Given the description of an element on the screen output the (x, y) to click on. 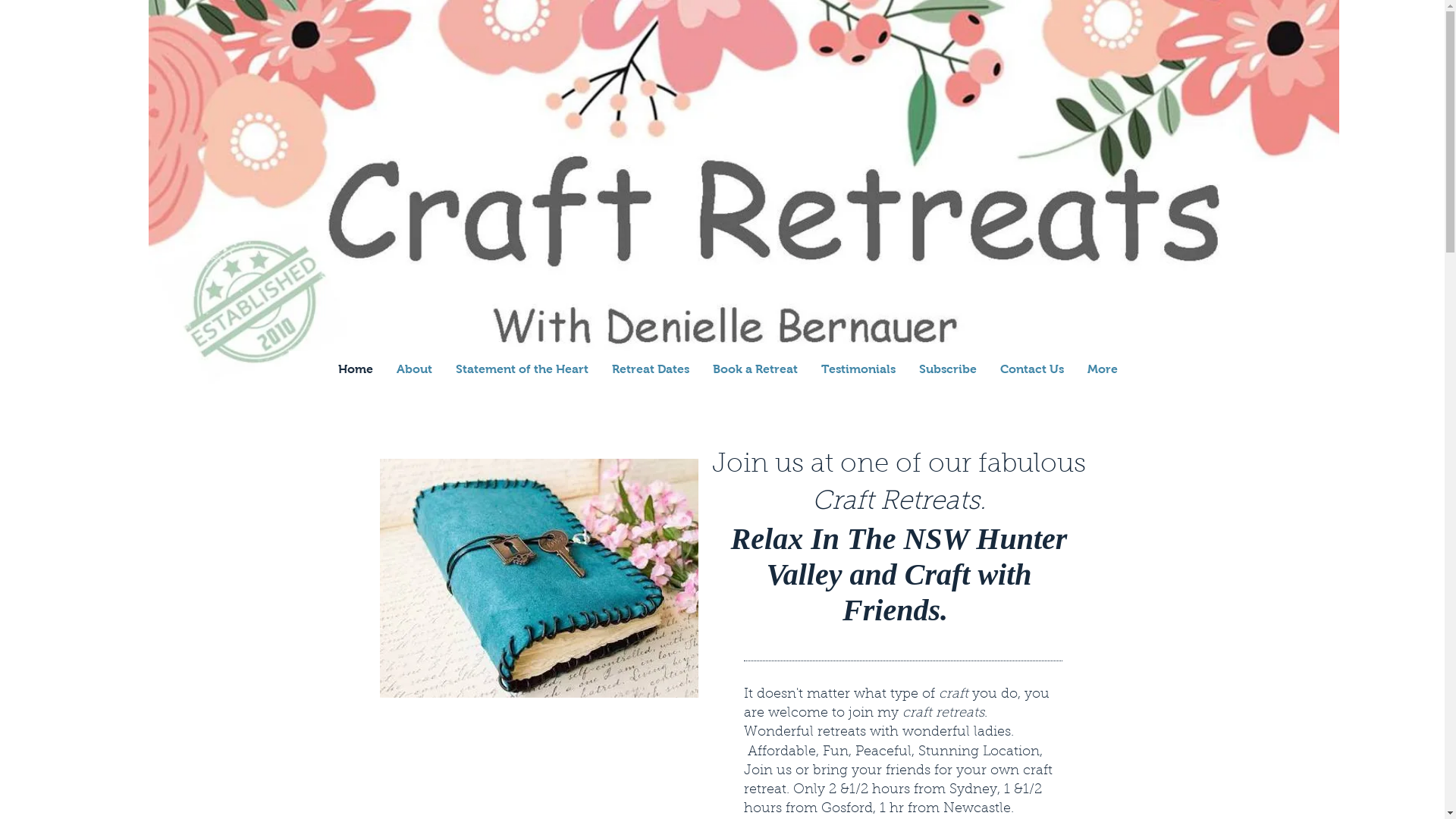
Subscribe Element type: text (947, 368)
13672221_10153972487329143_116967540_n.jpg Element type: hover (538, 577)
Web Header.jpg Element type: hover (743, 199)
About Element type: text (413, 368)
Home Element type: text (355, 368)
Statement of the Heart Element type: text (521, 368)
Book a Retreat Element type: text (754, 368)
Contact Us Element type: text (1031, 368)
Retreat Dates Element type: text (649, 368)
Testimonials Element type: text (857, 368)
